Given the description of an element on the screen output the (x, y) to click on. 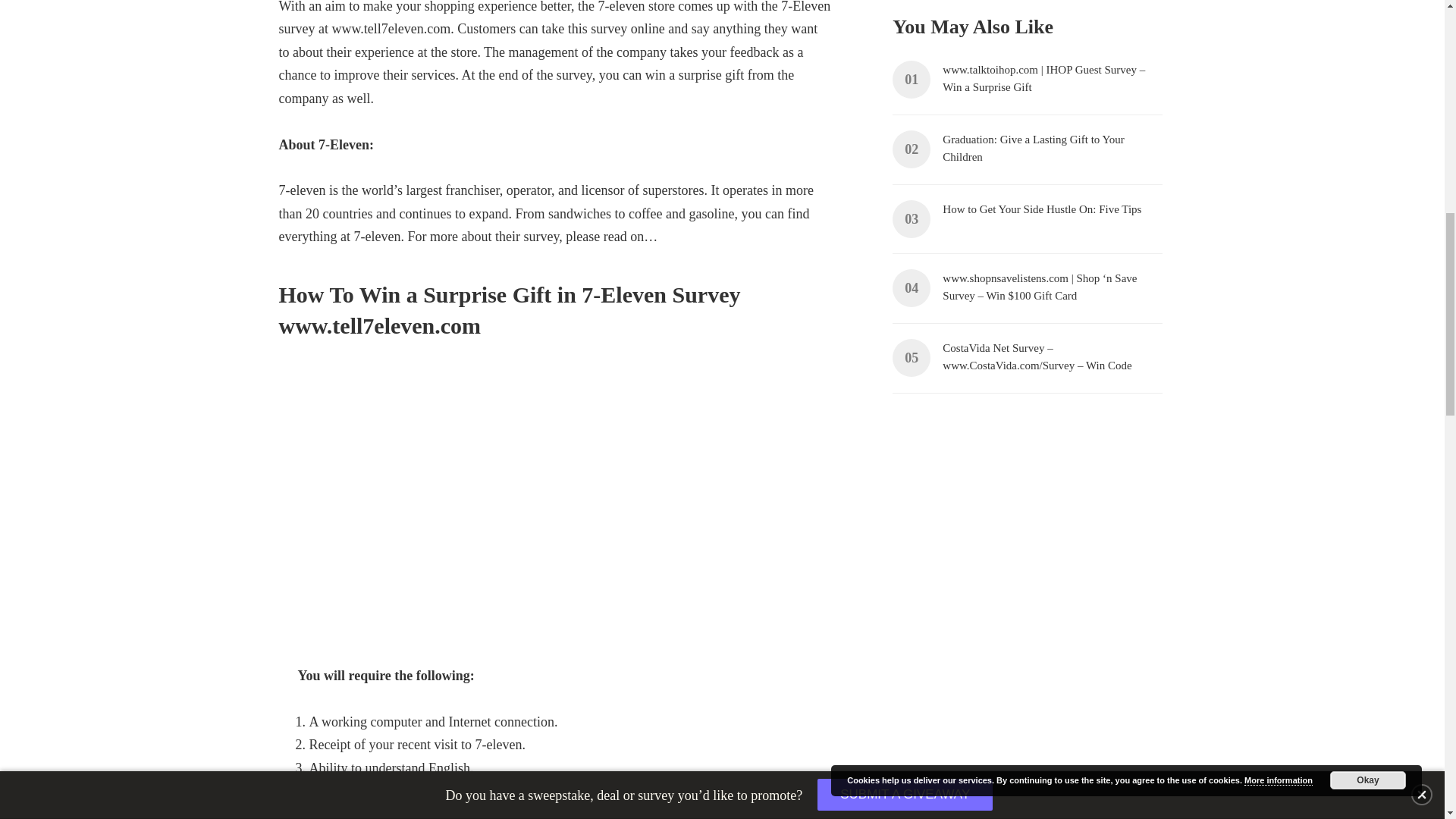
Advertisement (1028, 436)
